Given the description of an element on the screen output the (x, y) to click on. 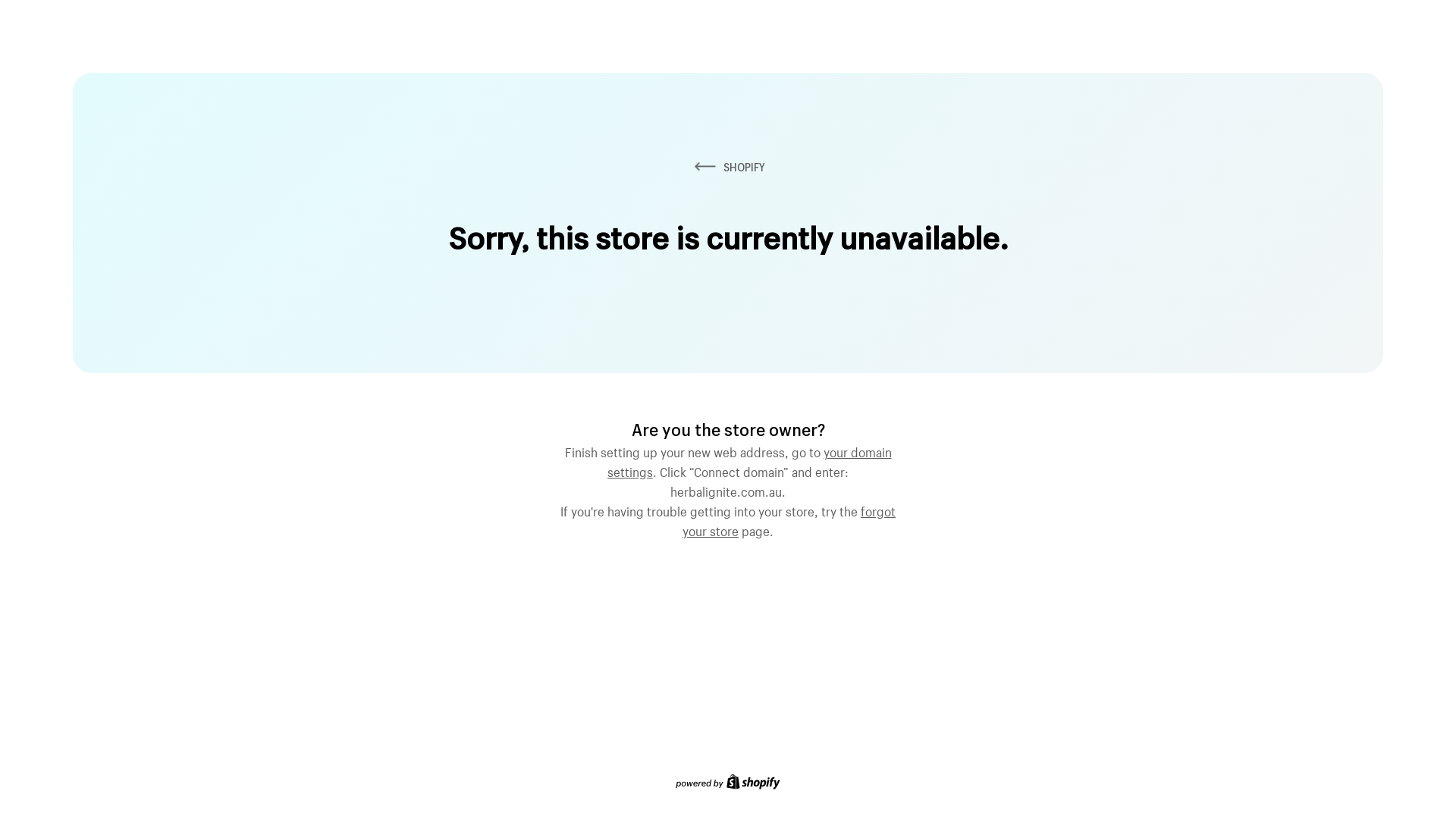
forgot your store Element type: text (788, 519)
SHOPIFY Element type: text (727, 167)
your domain settings Element type: text (749, 460)
